Given the description of an element on the screen output the (x, y) to click on. 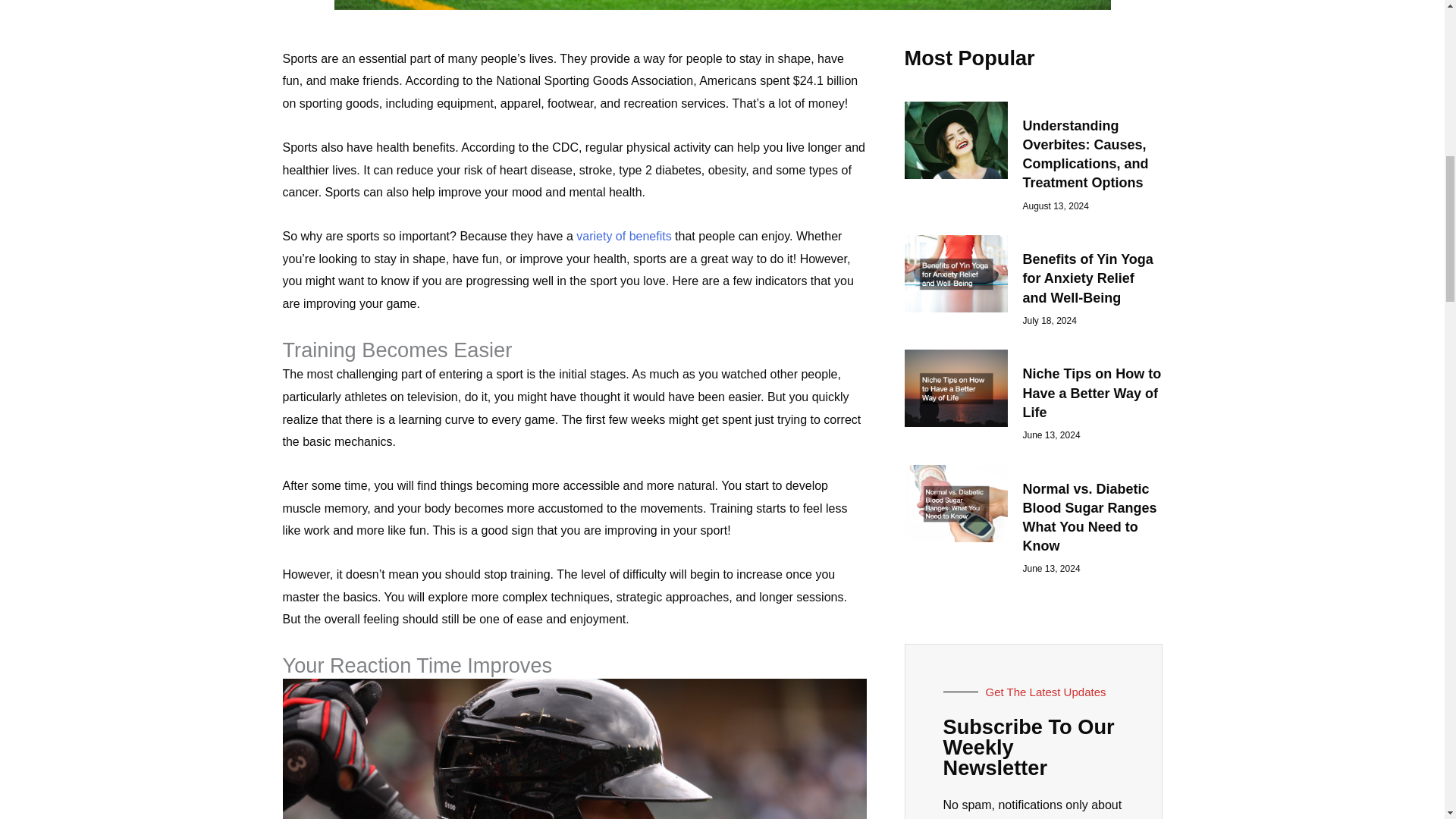
Benefits of Yin Yoga for Anxiety Relief and Well-Being (1087, 277)
Niche Tips on How to Have a Better Way of Life (1091, 392)
variety of benefits (623, 236)
Reaction time (574, 748)
Normal vs. Diabetic Blood Sugar Ranges What You Need to Know (1089, 517)
